Given the description of an element on the screen output the (x, y) to click on. 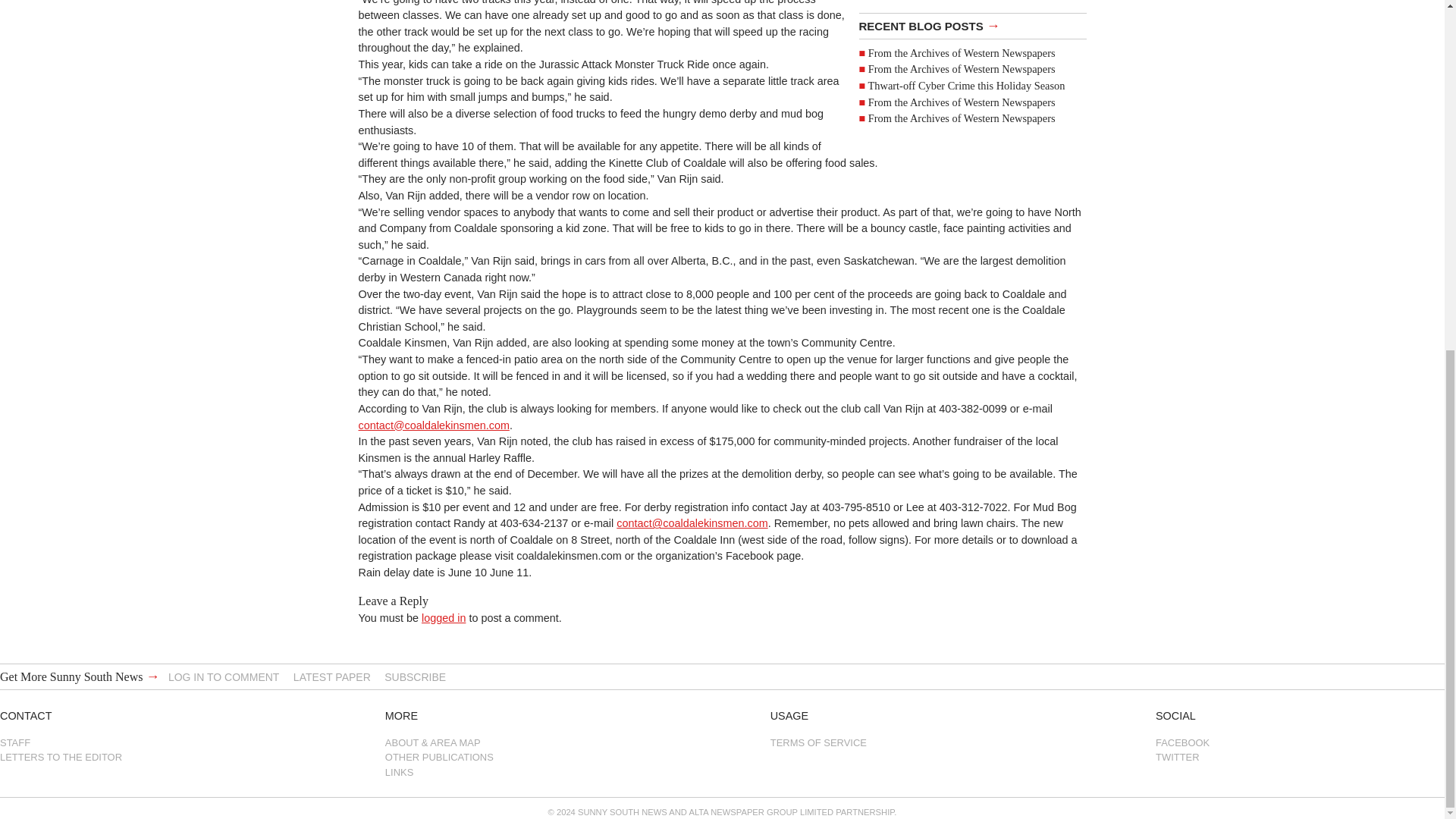
Thwart-off Cyber Crime this Holiday Season (966, 85)
From the Archives of Western Newspapers (961, 101)
From the Archives of Western Newspapers (961, 69)
From the Archives of Western Newspapers (961, 118)
From the Archives of Western Newspapers (961, 52)
